Given the description of an element on the screen output the (x, y) to click on. 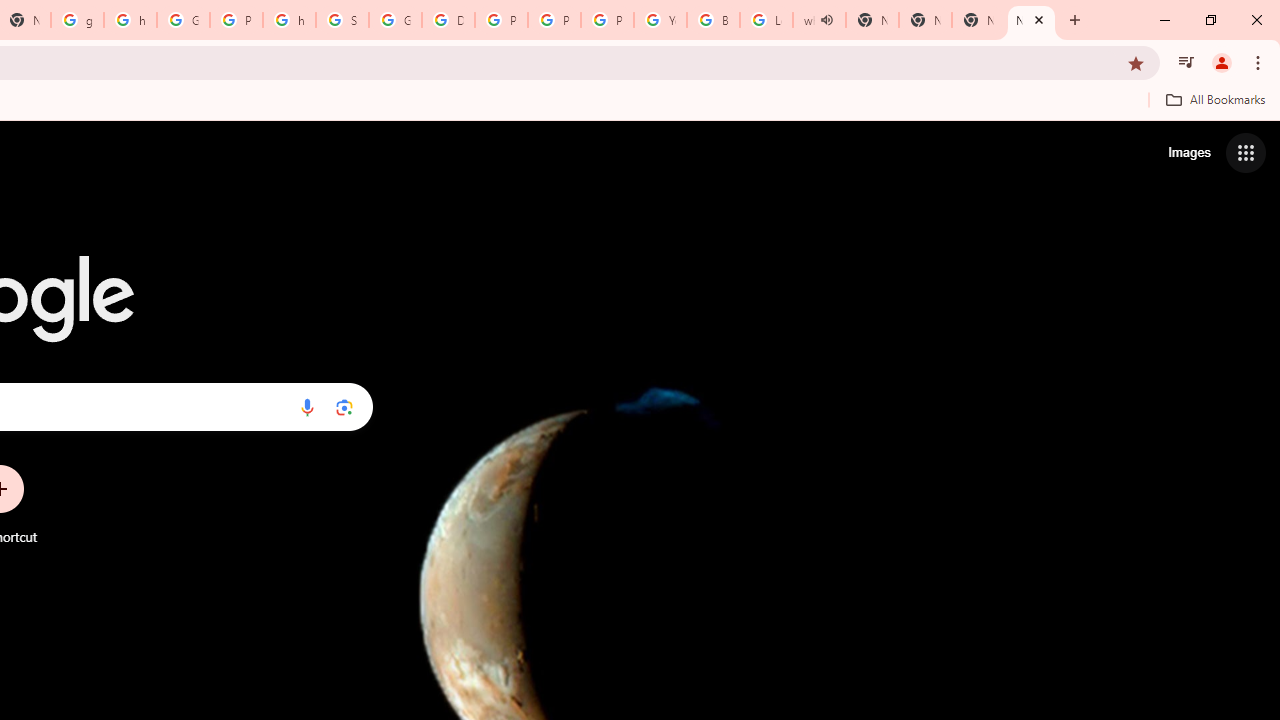
New Tab (1031, 20)
YouTube (660, 20)
Mute tab (826, 20)
https://scholar.google.com/ (130, 20)
Sign in - Google Accounts (342, 20)
